Given the description of an element on the screen output the (x, y) to click on. 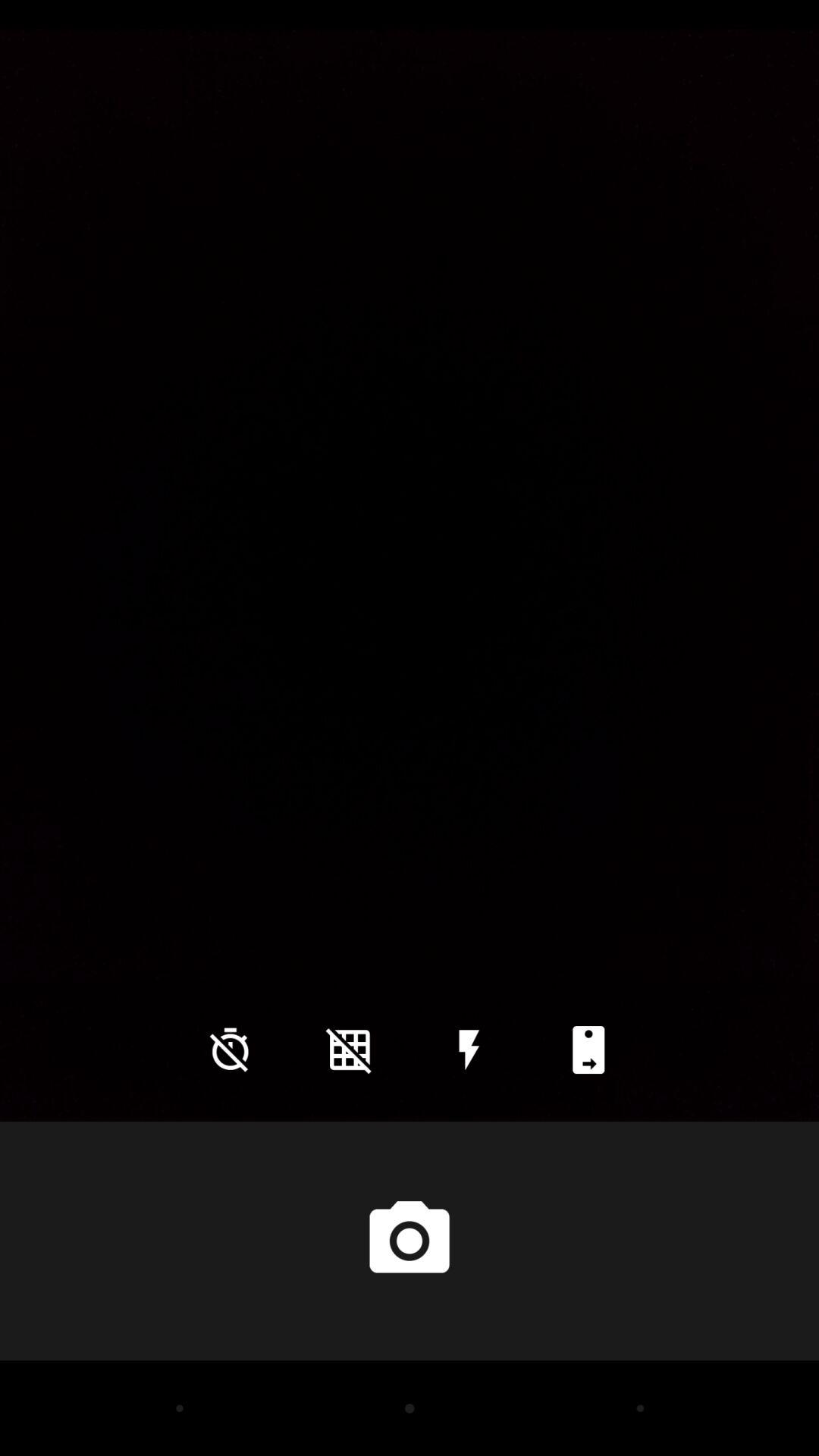
press icon at the bottom left corner (230, 1049)
